Given the description of an element on the screen output the (x, y) to click on. 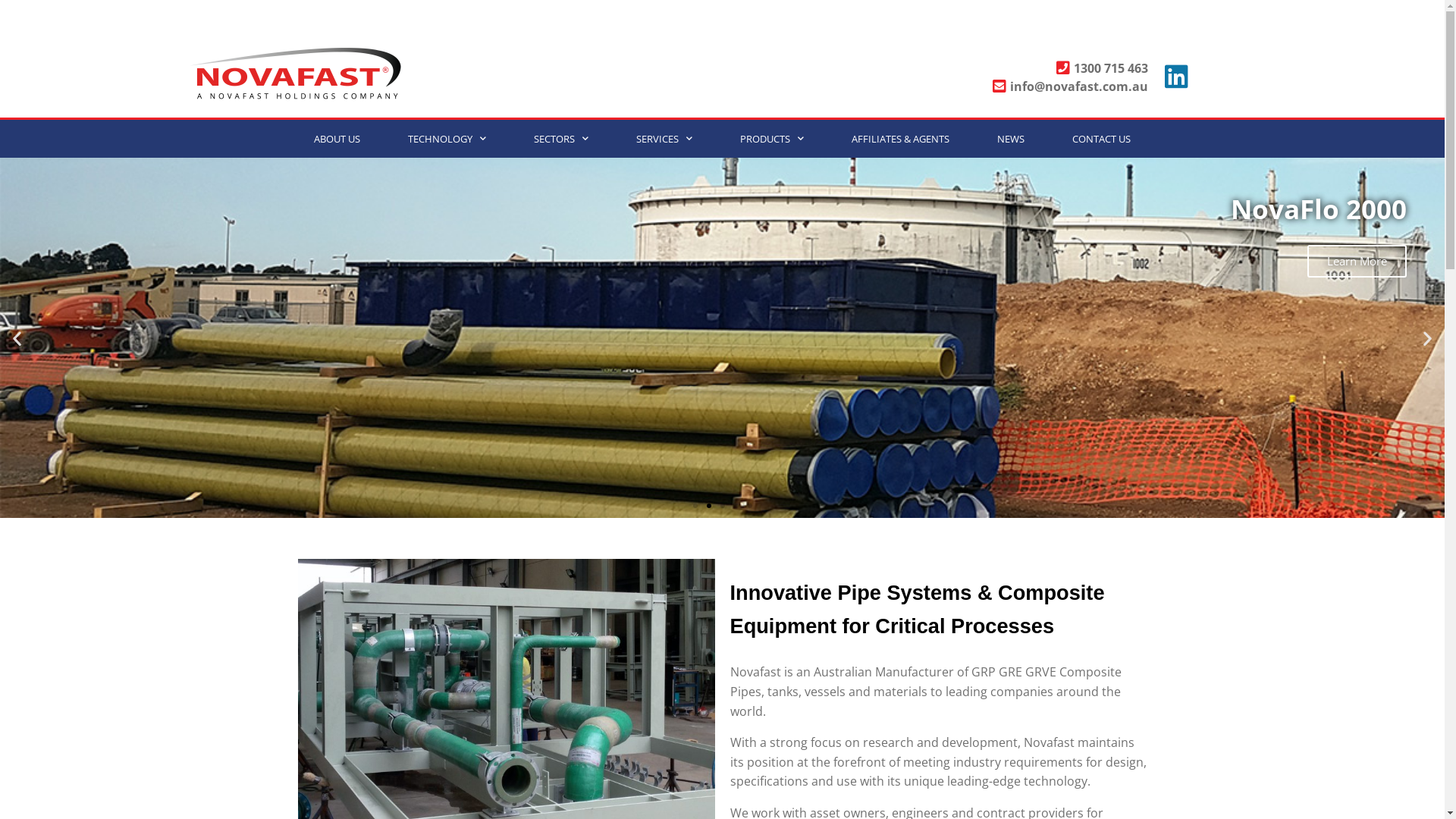
SECTORS Element type: text (560, 138)
SERVICES Element type: text (664, 138)
NEWS Element type: text (1010, 138)
CONTACT US Element type: text (1101, 138)
TECHNOLOGY Element type: text (446, 138)
NovaFlo 2000
Learn More Element type: text (722, 337)
info@novafast.com.au Element type: text (1011, 86)
ABOUT US Element type: text (336, 138)
AFFILIATES & AGENTS Element type: text (900, 138)
1300 715 463 Element type: text (1011, 68)
PRODUCTS Element type: text (771, 138)
